Given the description of an element on the screen output the (x, y) to click on. 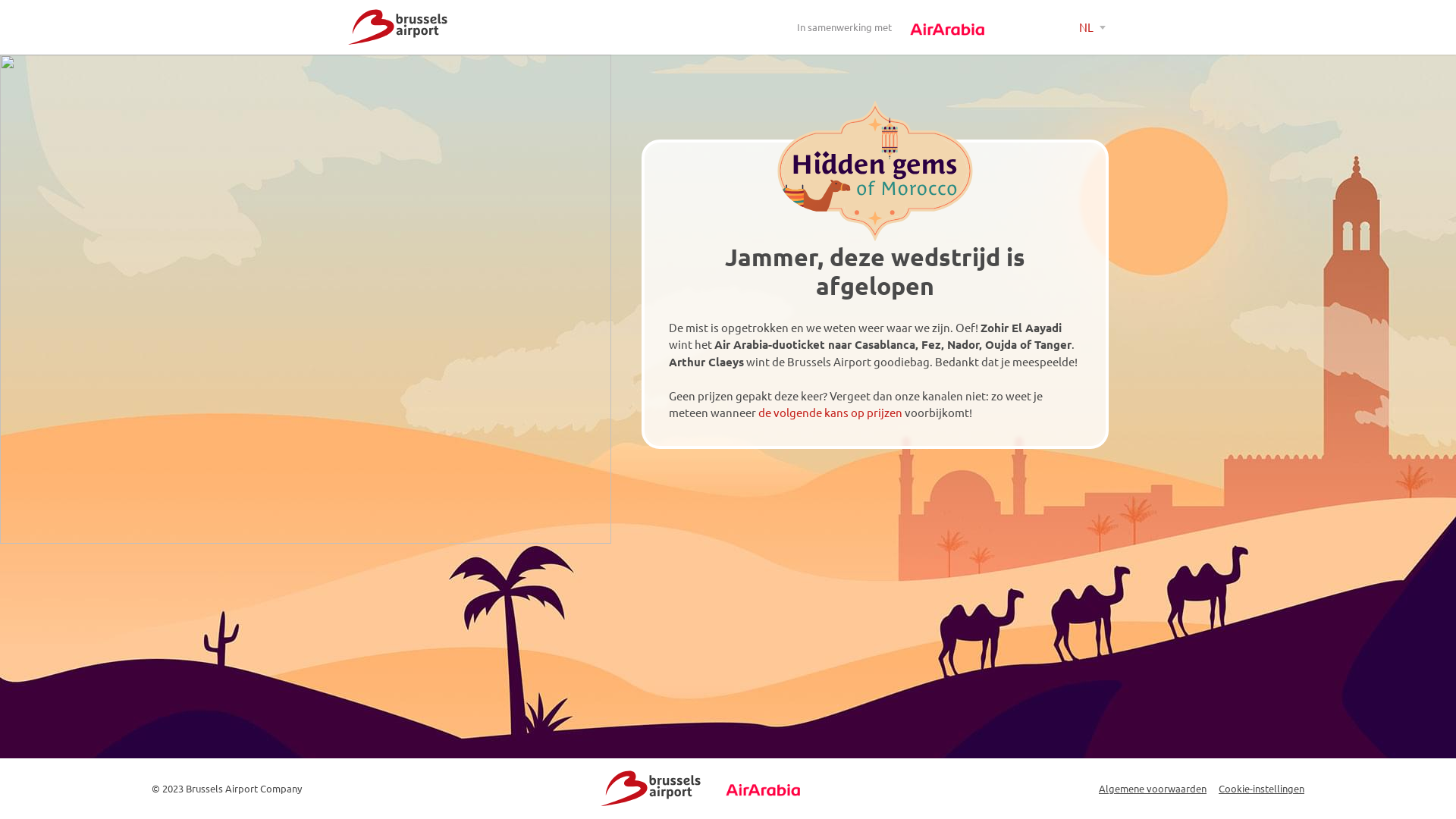
Cookie-instellingen Element type: text (1261, 788)
de volgende kans op prijzen Element type: text (830, 411)
Algemene voorwaarden Element type: text (1152, 788)
NL Element type: text (1091, 27)
